Given the description of an element on the screen output the (x, y) to click on. 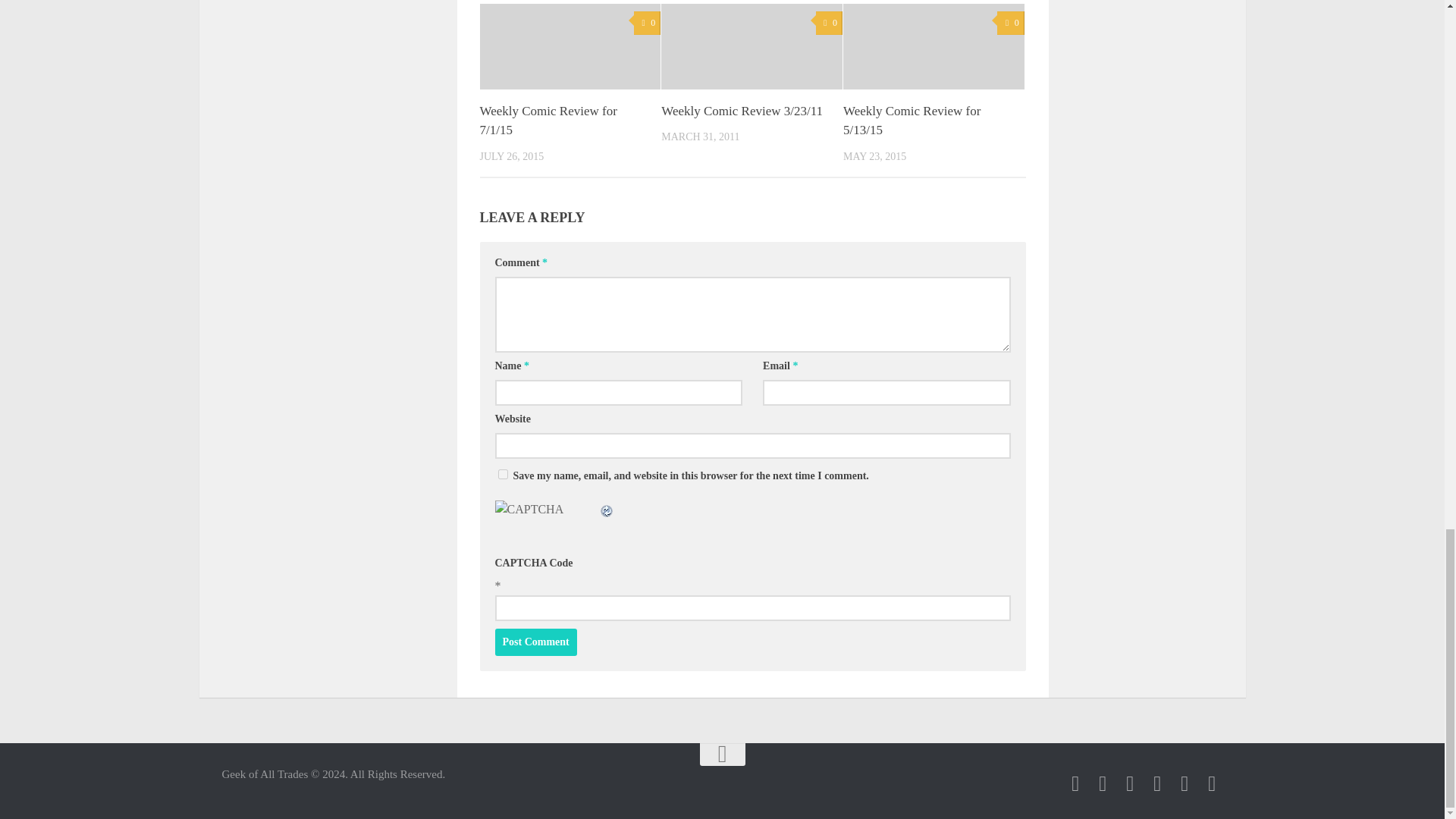
Follow me on Youtube (1157, 783)
Refresh (606, 508)
Post Comment (535, 642)
Follow us on Tiktok (1129, 783)
Follow me on Twitter (1102, 783)
yes (501, 474)
0 (647, 23)
CAPTCHA (546, 517)
Follow me on Facebook (1075, 783)
